Given the description of an element on the screen output the (x, y) to click on. 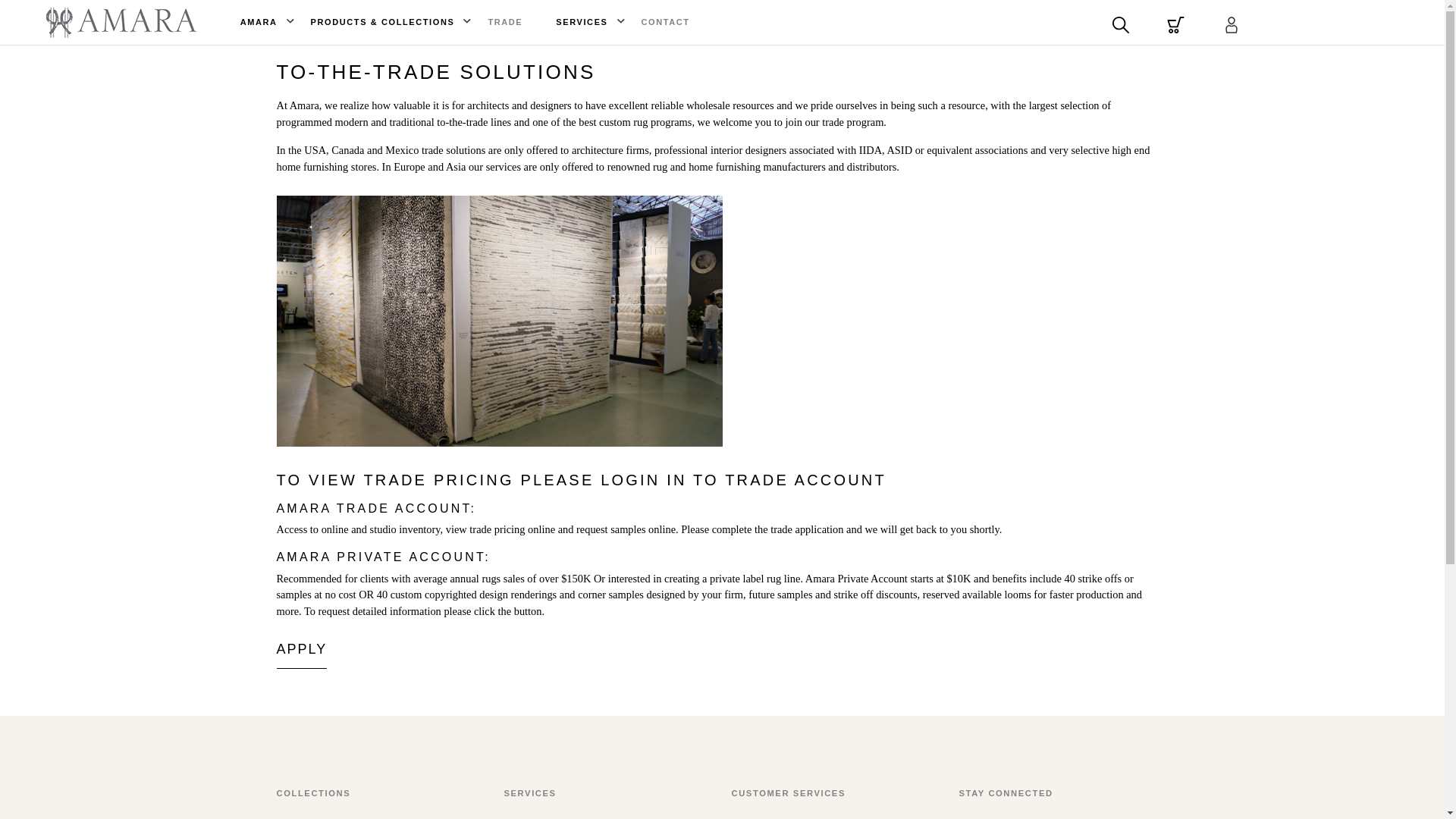
CONTACT (666, 21)
TRADE (504, 21)
APPLY (301, 649)
silk (499, 320)
